Given the description of an element on the screen output the (x, y) to click on. 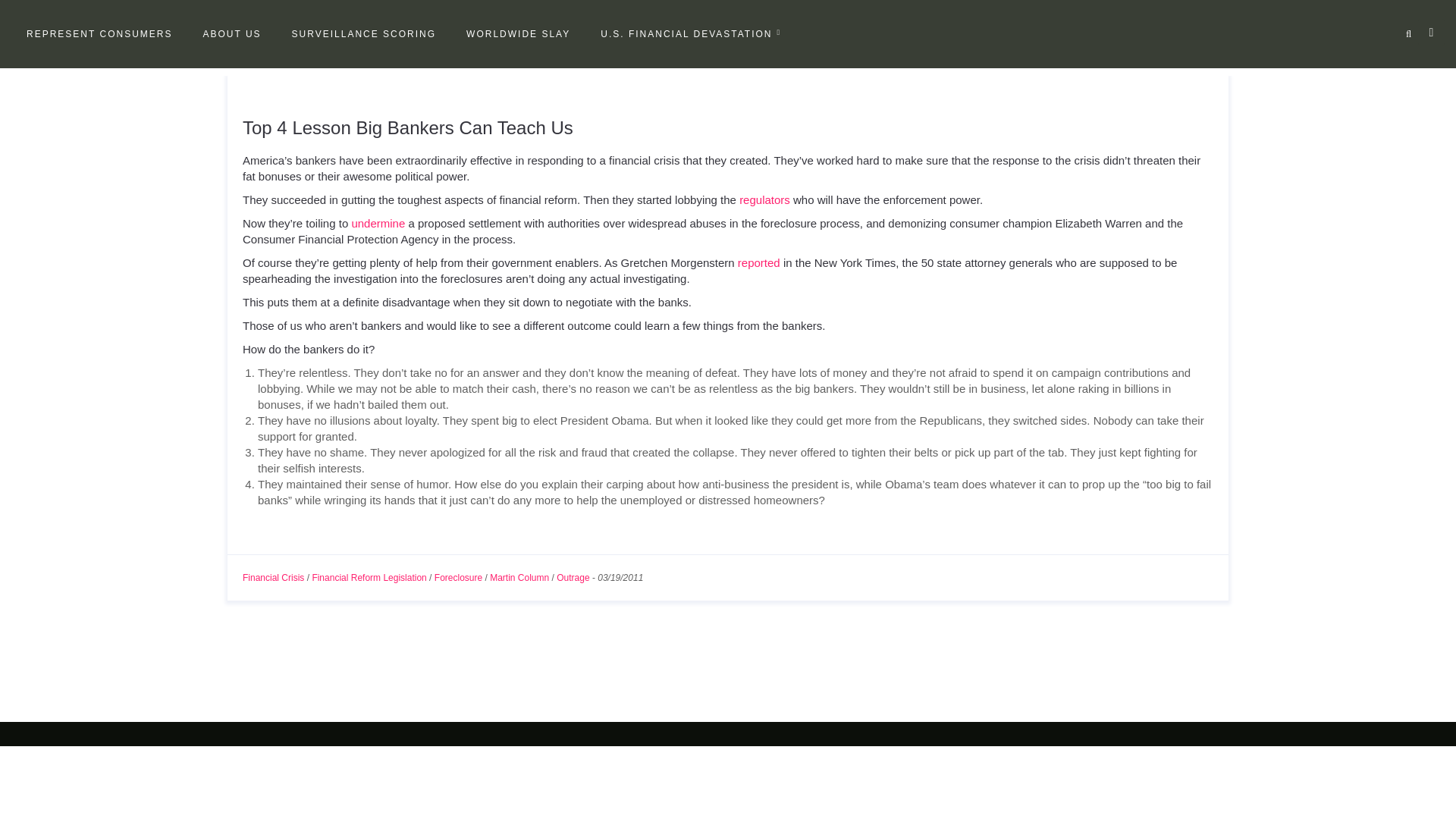
WORLDWIDE SLAY (517, 33)
regulators (764, 199)
Financial Reform Legislation (368, 577)
Foreclosure (457, 577)
Outrage (572, 577)
Financial Crisis (273, 577)
undermine (377, 223)
ABOUT US (231, 33)
Top 4 Lesson Big Bankers Can Teach Us (408, 127)
REPRESENT CONSUMERS (98, 33)
U.S. FINANCIAL DEVASTATION (690, 33)
Martin Column (518, 577)
SURVEILLANCE SCORING (364, 33)
reported (759, 262)
